Given the description of an element on the screen output the (x, y) to click on. 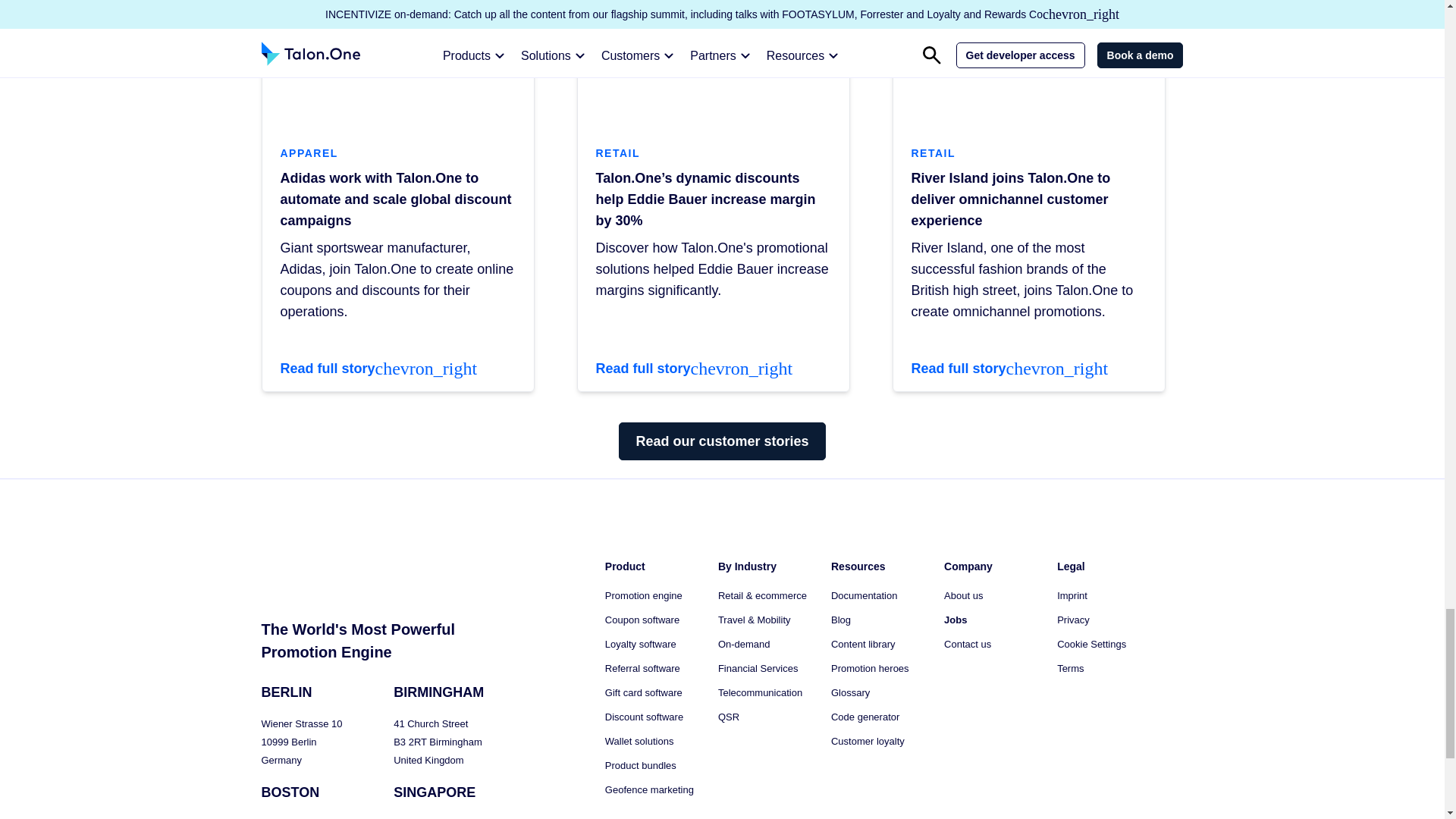
Talon.One Company Logo (309, 572)
Read our customer stories (721, 441)
River Island (1028, 63)
eddie-bauer-case-study-library image (713, 63)
adidas card image thank you (398, 63)
Promotion engine (643, 596)
